Given the description of an element on the screen output the (x, y) to click on. 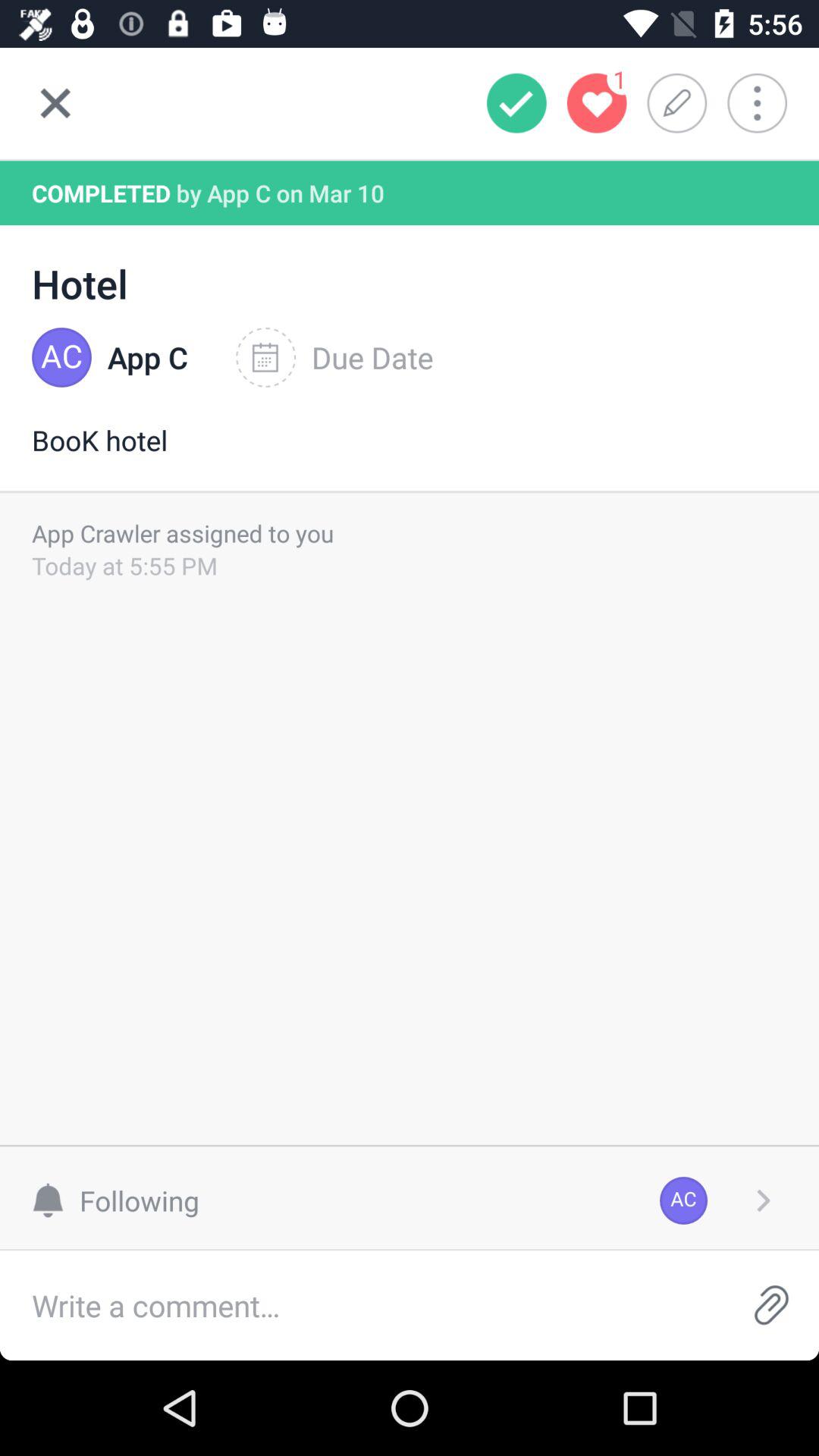
choose the icon below app c (409, 455)
